Given the description of an element on the screen output the (x, y) to click on. 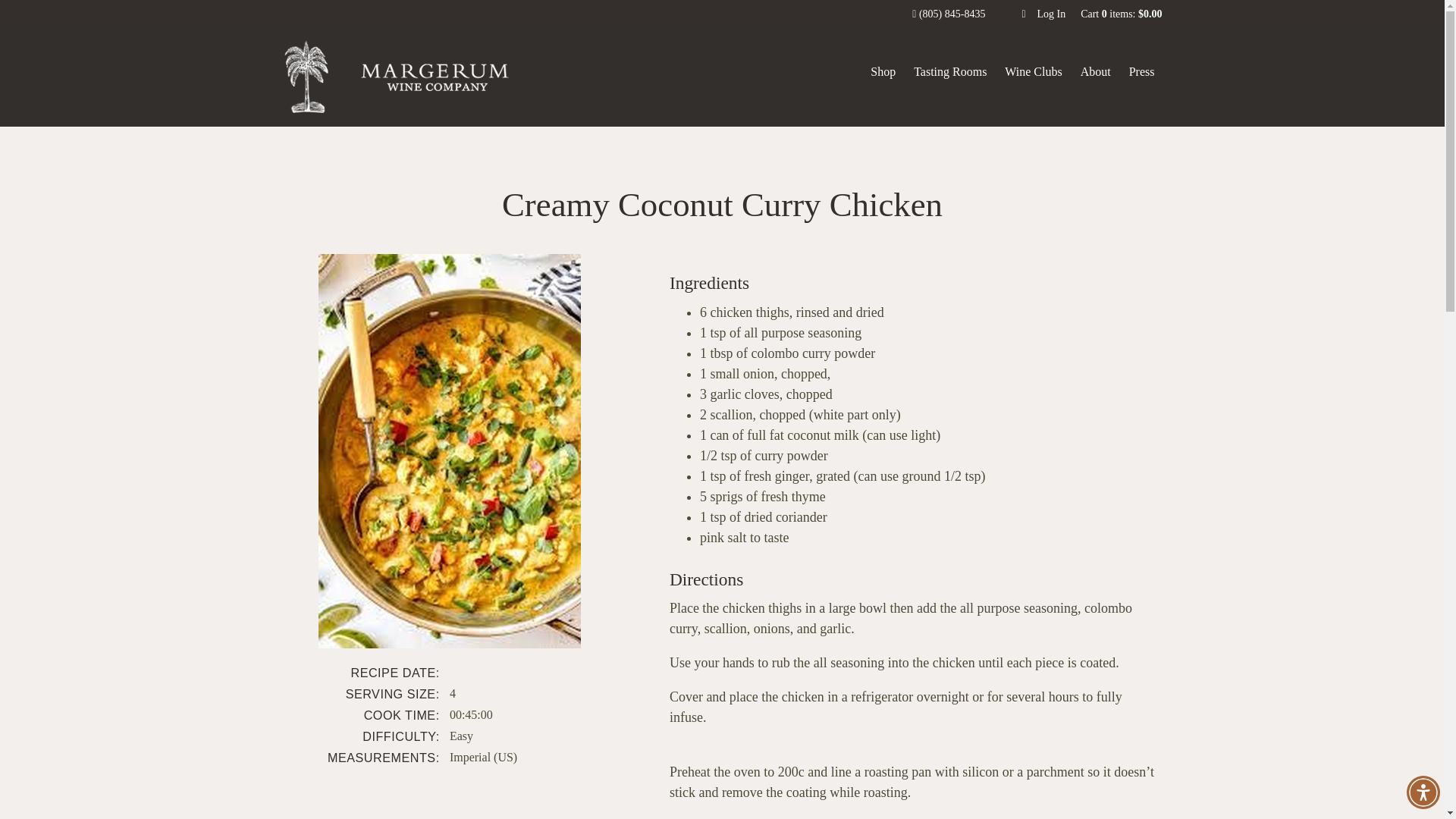
Accessibility Menu (1422, 792)
Log In (1043, 13)
Margerum Wine Company (399, 78)
